Given the description of an element on the screen output the (x, y) to click on. 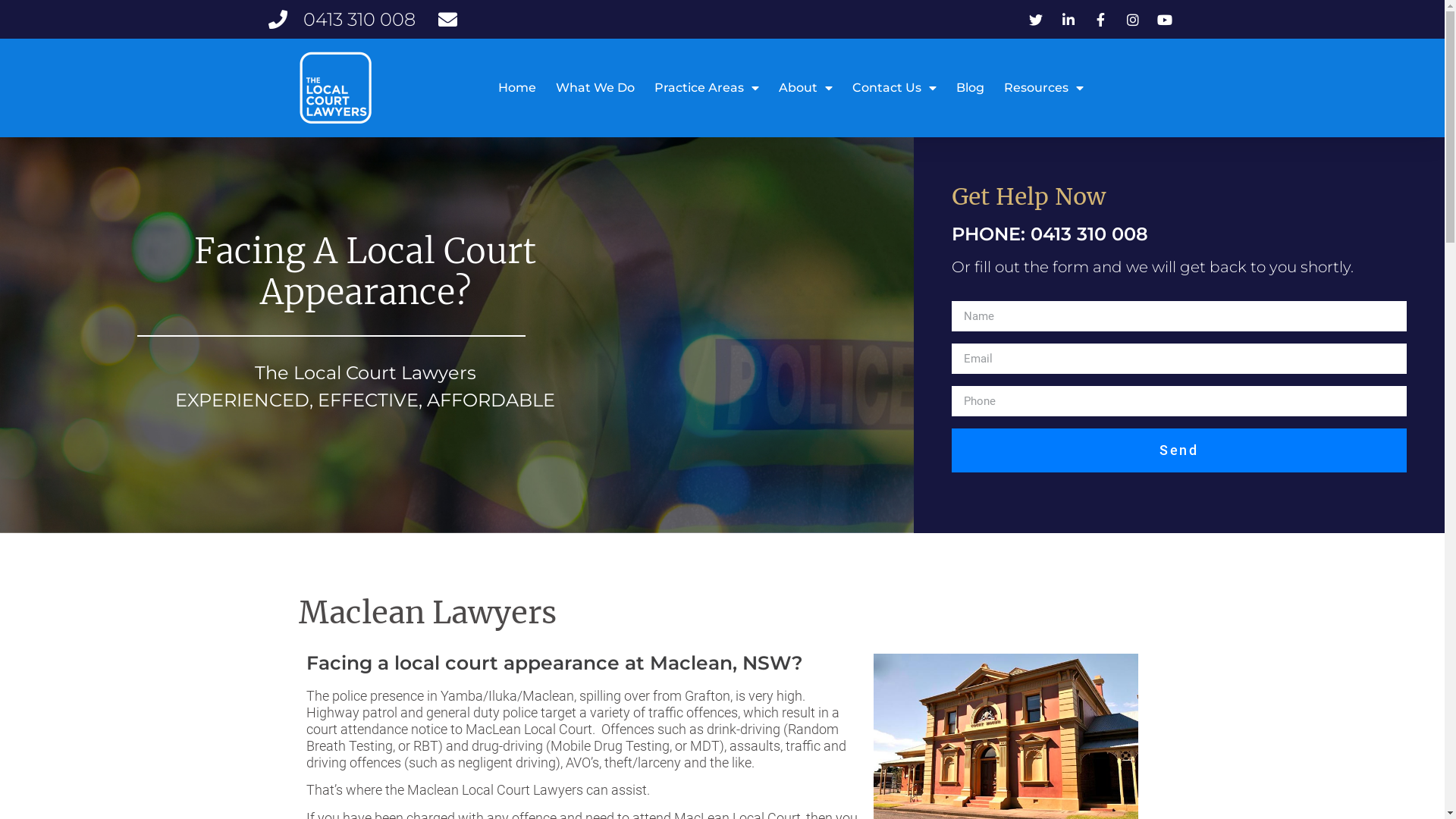
Logo Transparent Element type: hover (335, 87)
0413 310 008 Element type: text (341, 18)
Blog Element type: text (969, 87)
Resources Element type: text (1043, 87)
Contact Us Element type: text (894, 87)
PHONE: 0413 310 008 Element type: text (1049, 233)
About Element type: text (804, 87)
What We Do Element type: text (594, 87)
Home Element type: text (516, 87)
Send Element type: text (1178, 450)
Practice Areas Element type: text (705, 87)
